Given the description of an element on the screen output the (x, y) to click on. 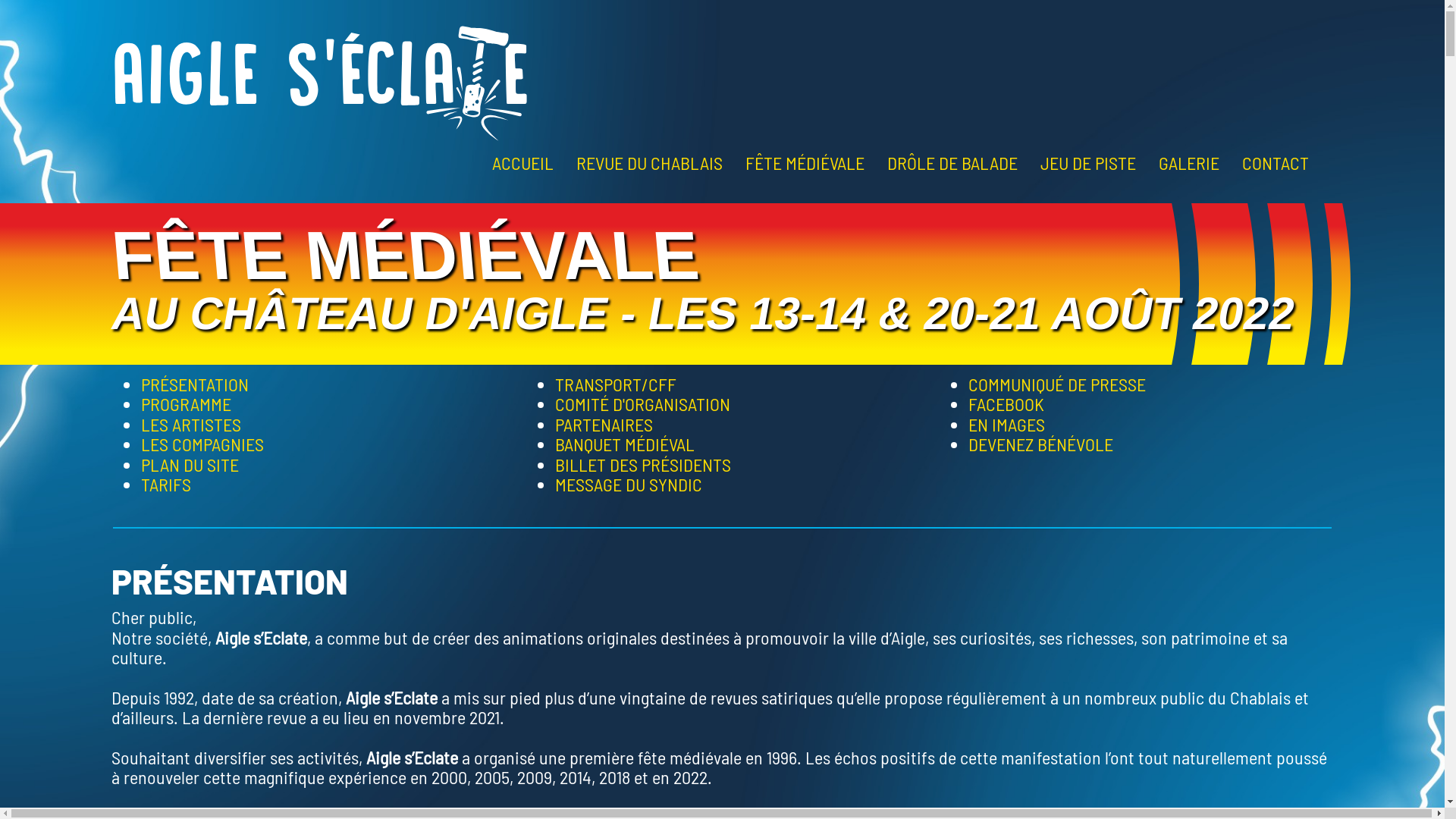
EN IMAGES Element type: text (1006, 424)
ACCUEIL Element type: text (522, 162)
TRANSPORT/CFF Element type: text (615, 384)
LES COMPAGNIES Element type: text (202, 444)
MESSAGE DU SYNDIC Element type: text (628, 484)
JEU DE PISTE Element type: text (1087, 162)
GALERIE Element type: text (1188, 162)
PLAN DU SITE Element type: text (189, 464)
LES ARTISTES Element type: text (191, 424)
FACEBOOK Element type: text (1006, 403)
PARTENAIRES Element type: text (603, 424)
CONTACT Element type: text (1275, 162)
PROGRAMME Element type: text (186, 403)
REVUE DU CHABLAIS Element type: text (649, 162)
TARIFS Element type: text (166, 484)
